Given the description of an element on the screen output the (x, y) to click on. 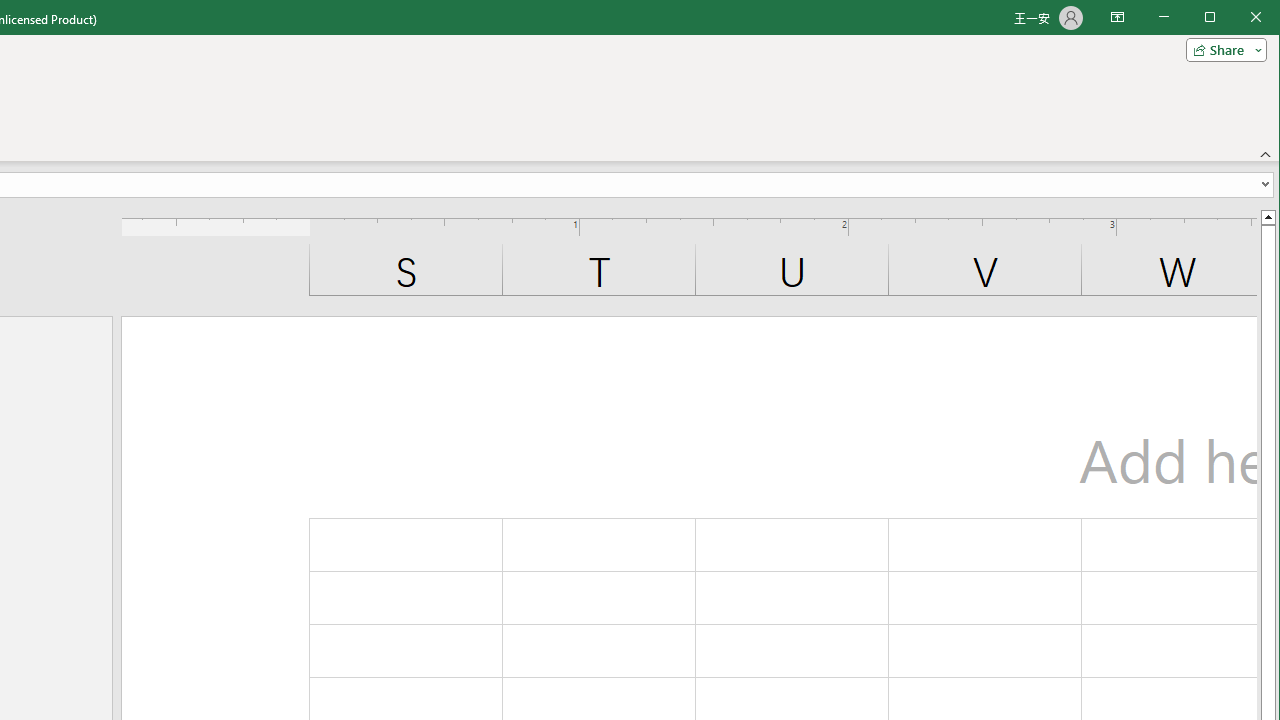
Maximize (1238, 18)
